Given the description of an element on the screen output the (x, y) to click on. 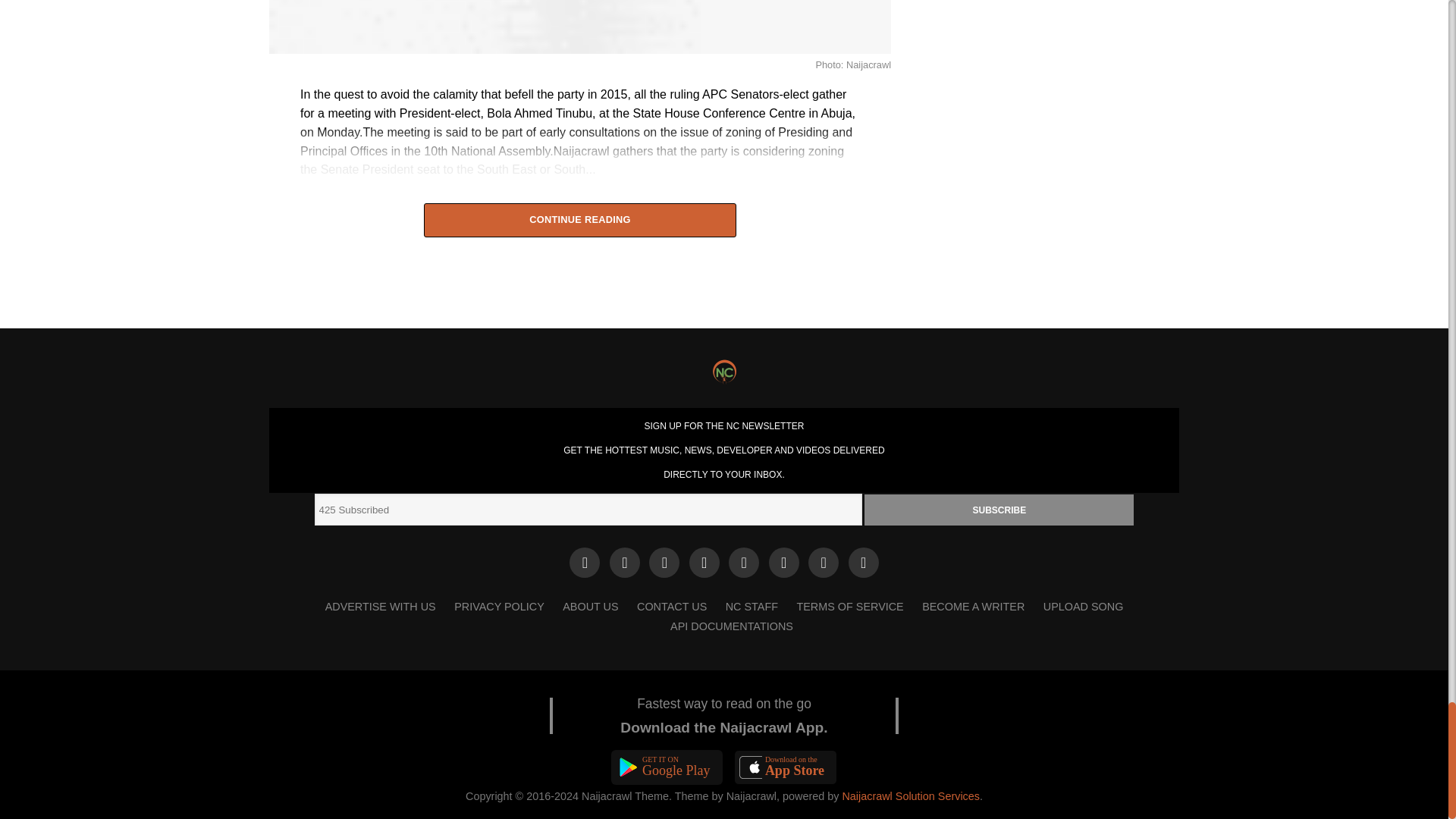
App Store (785, 767)
Subscribe (999, 509)
Google Play (667, 767)
